Given the description of an element on the screen output the (x, y) to click on. 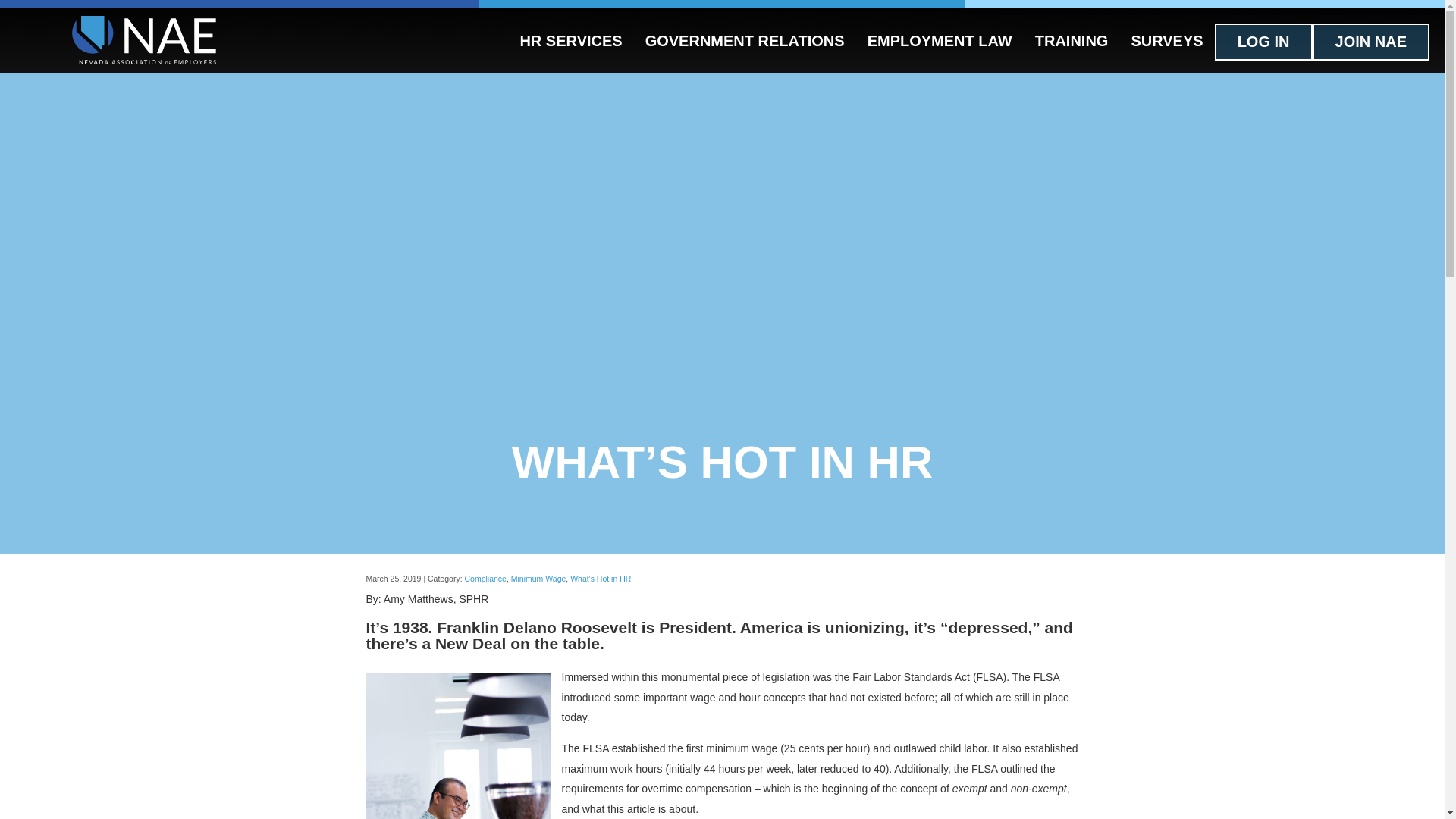
NAE (143, 43)
GOVERNMENT RELATIONS (744, 40)
JOIN NAE (1371, 41)
TRAINING (1071, 40)
LOG IN (1263, 41)
SURVEYS (1166, 40)
EMPLOYMENT LAW (939, 40)
HR SERVICES (570, 40)
